Given the description of an element on the screen output the (x, y) to click on. 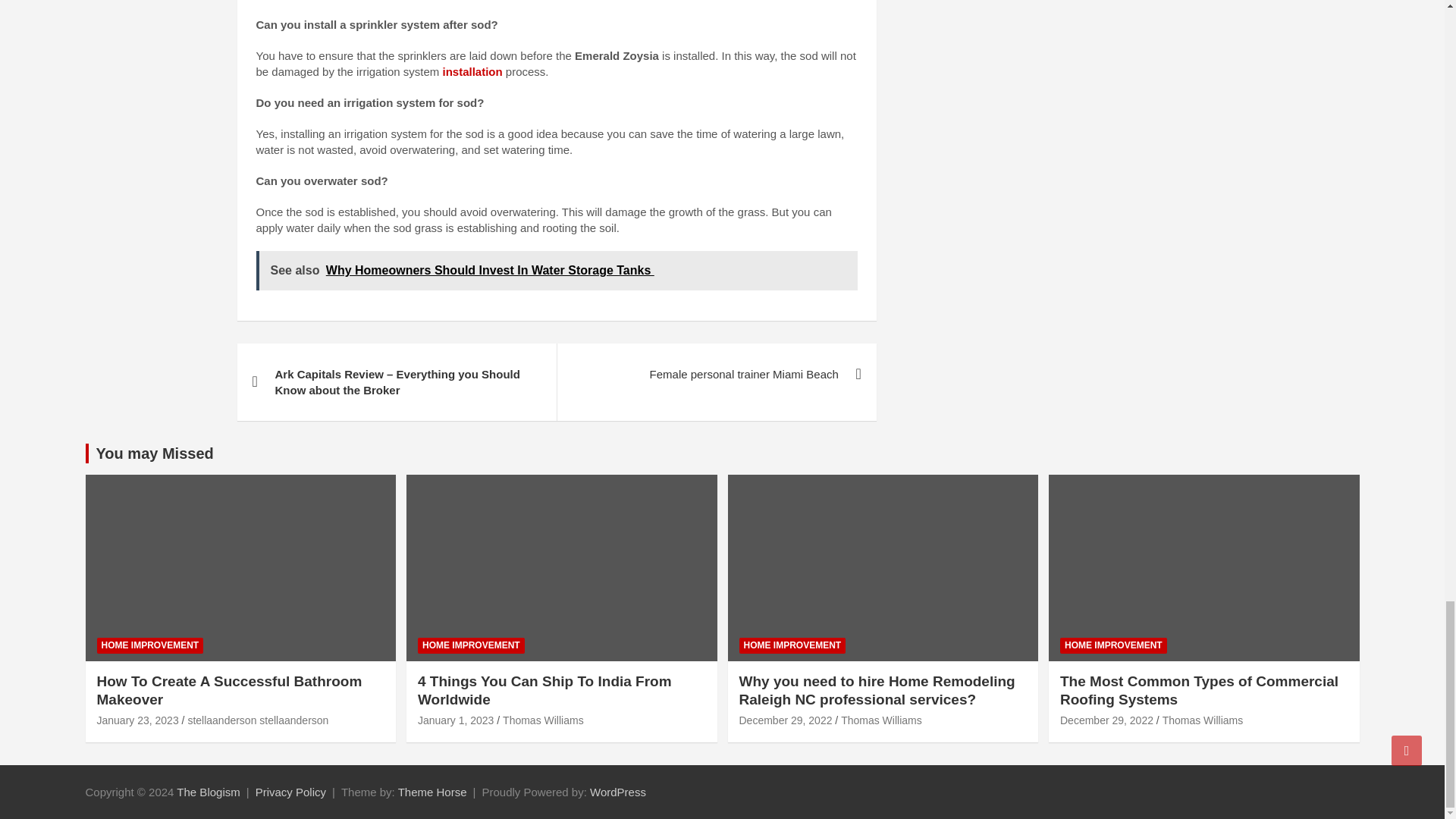
The Blogism (208, 791)
WordPress (617, 791)
How To Create A Successful Bathroom Makeover (138, 720)
4 Things You Can Ship To India From Worldwide (455, 720)
The Most Common Types of Commercial Roofing Systems (1106, 720)
Theme Horse (432, 791)
